Given the description of an element on the screen output the (x, y) to click on. 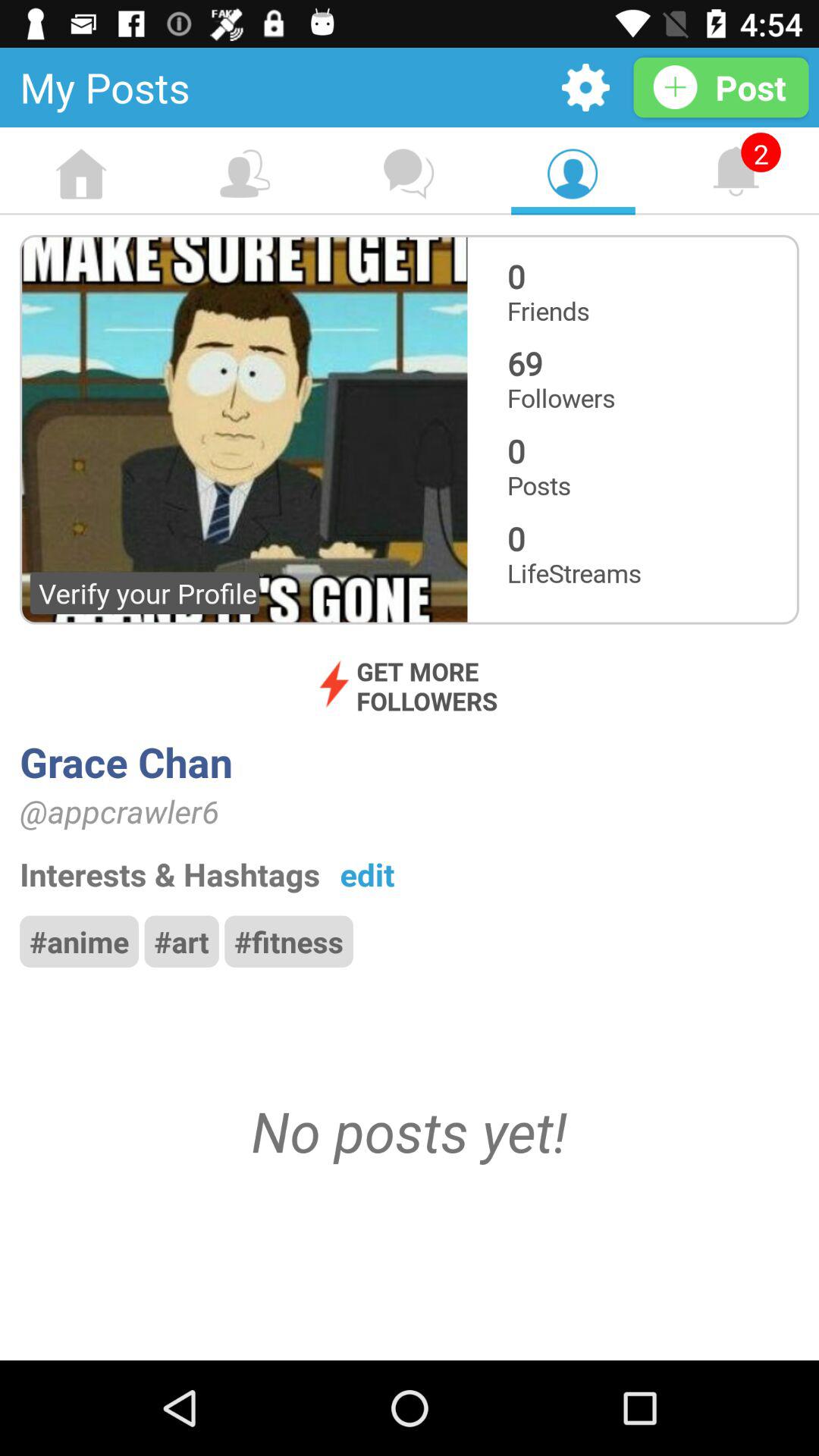
jump until the edit (367, 873)
